Given the description of an element on the screen output the (x, y) to click on. 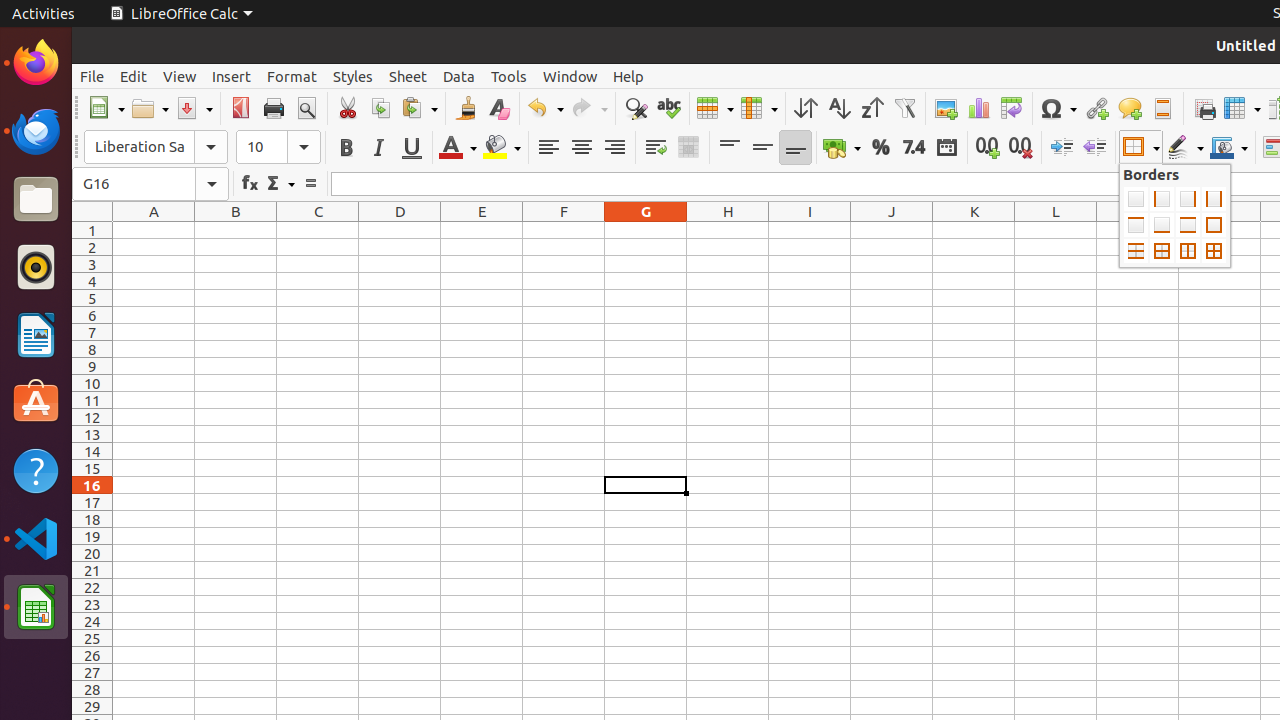
Tools Element type: menu (509, 76)
E1 Element type: table-cell (482, 230)
Font Size Element type: combo-box (278, 147)
M1 Element type: table-cell (1138, 230)
LibreOffice Calc Element type: menu (181, 13)
